Given the description of an element on the screen output the (x, y) to click on. 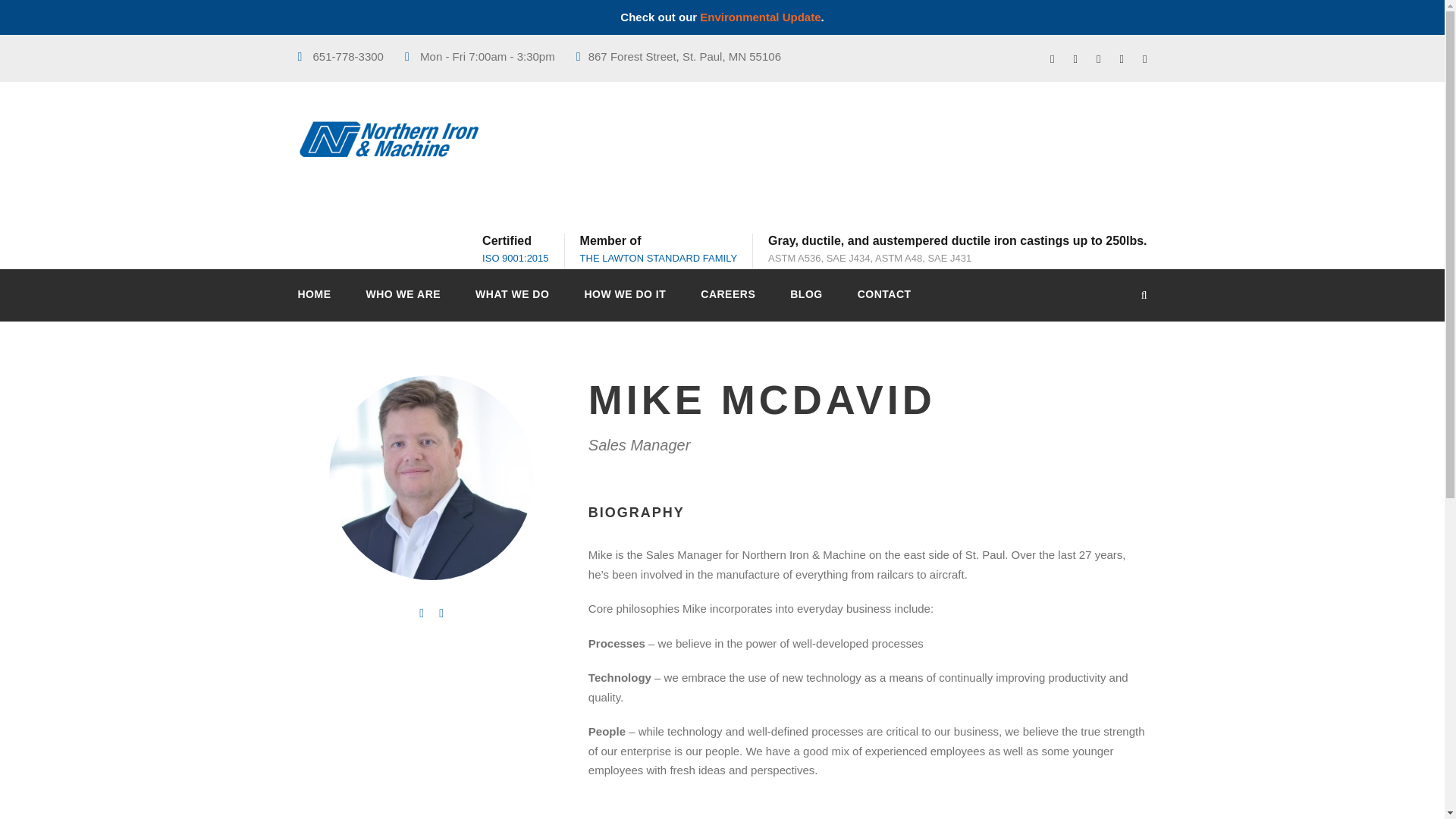
ISO 9001:2015 (514, 257)
Environmental Update (760, 16)
mike mcdavid (431, 477)
THE LAWTON STANDARD FAMILY (658, 257)
BLOG (806, 303)
CAREERS (727, 303)
WHO WE ARE (403, 303)
HOW WE DO IT (624, 303)
WHAT WE DO (512, 303)
CONTACT (884, 303)
HOME (313, 303)
